Given the description of an element on the screen output the (x, y) to click on. 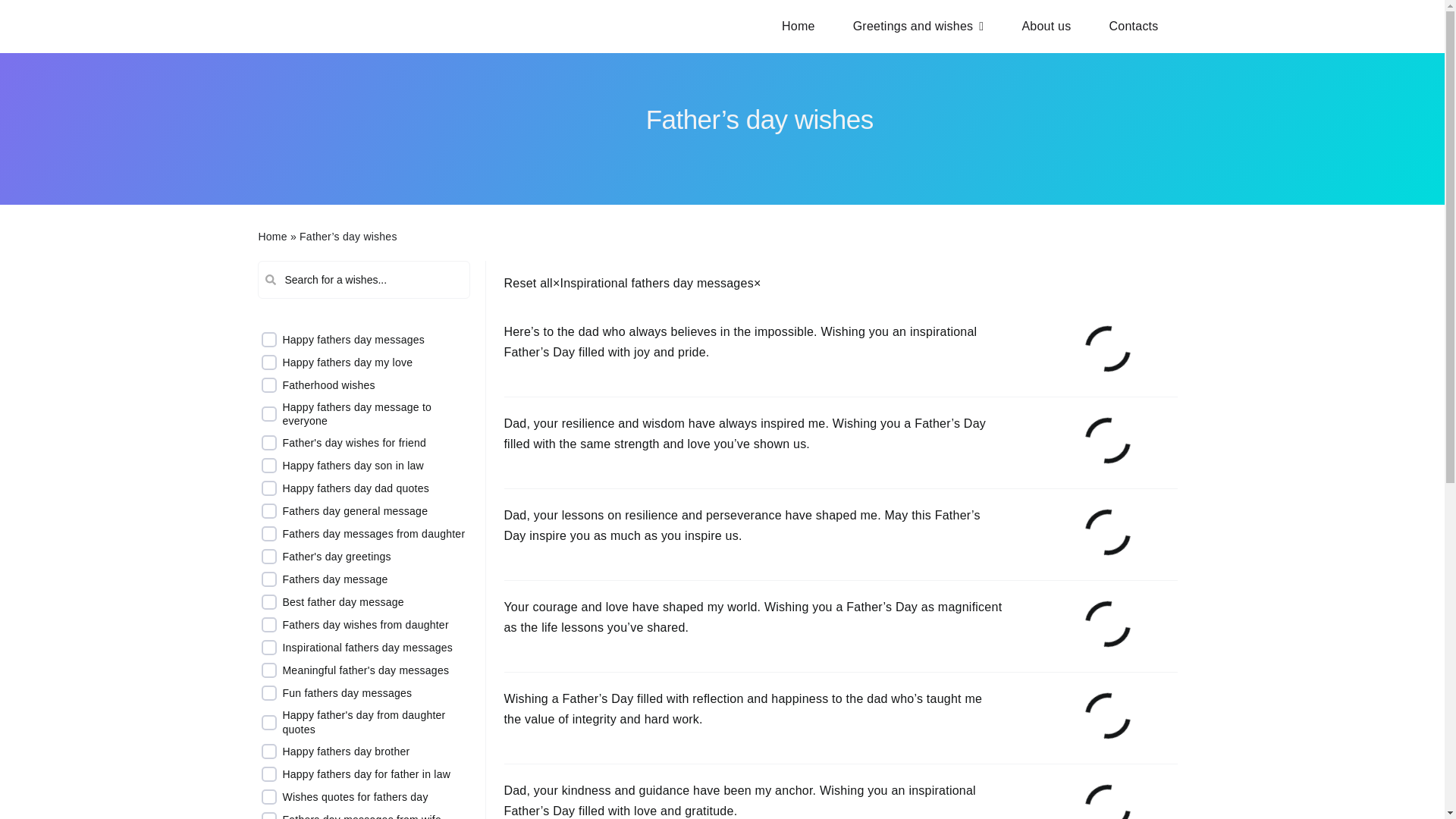
on (269, 556)
on (269, 579)
on (269, 751)
Greetings and wishes (918, 26)
on (269, 385)
Home page (798, 26)
fathers day wishes (367, 128)
on (269, 339)
on (269, 362)
on (269, 670)
on (269, 413)
on (269, 442)
on (269, 465)
on (269, 722)
on (269, 624)
